Given the description of an element on the screen output the (x, y) to click on. 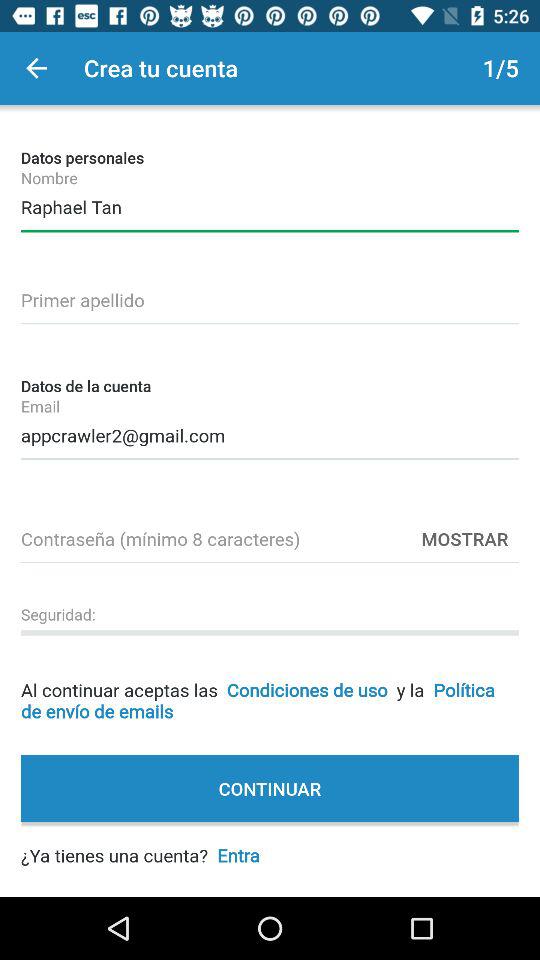
press item to the left of crea tu cuenta item (36, 68)
